Given the description of an element on the screen output the (x, y) to click on. 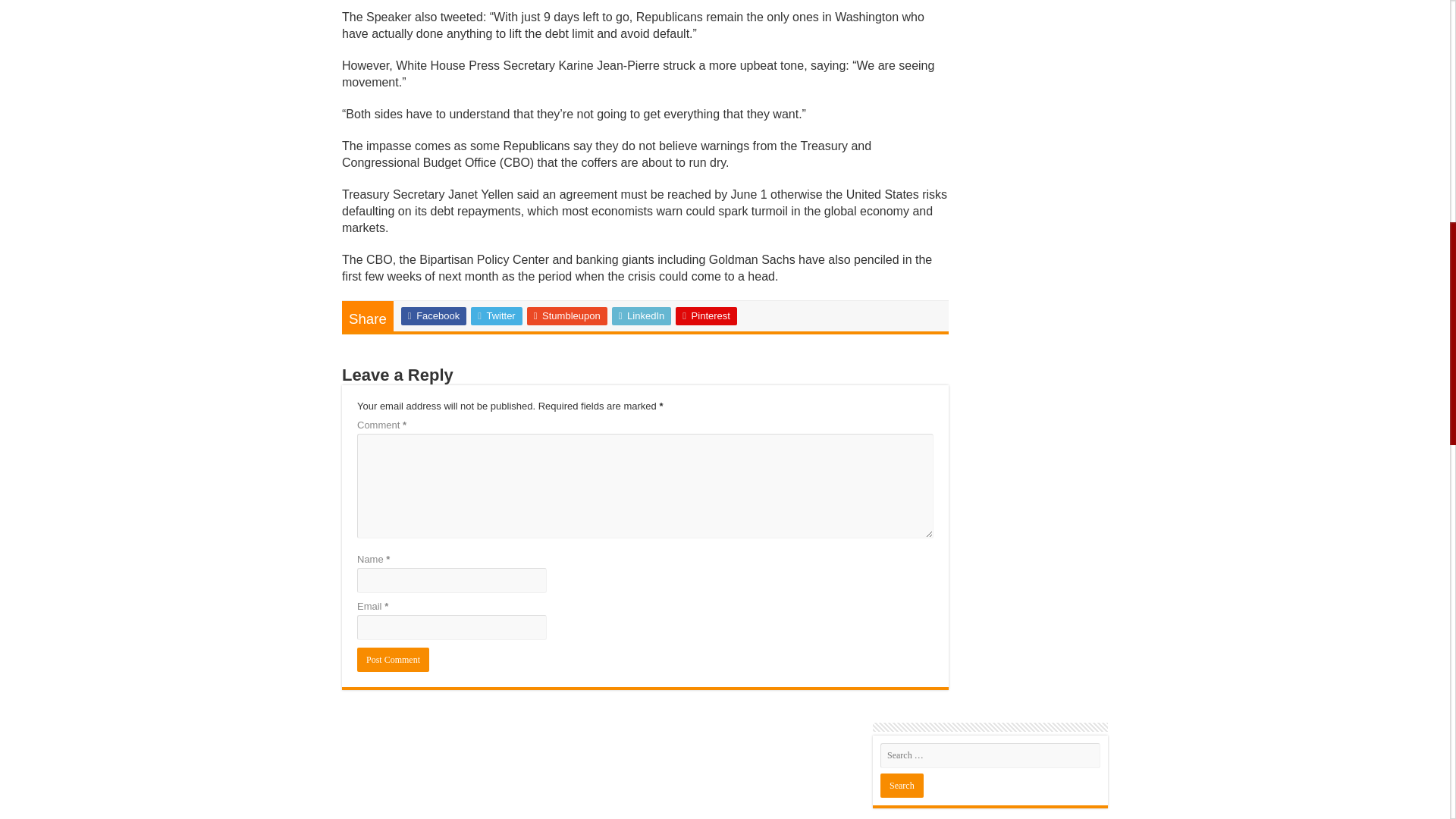
Post Comment (392, 659)
Search (901, 785)
Search (901, 785)
